Given the description of an element on the screen output the (x, y) to click on. 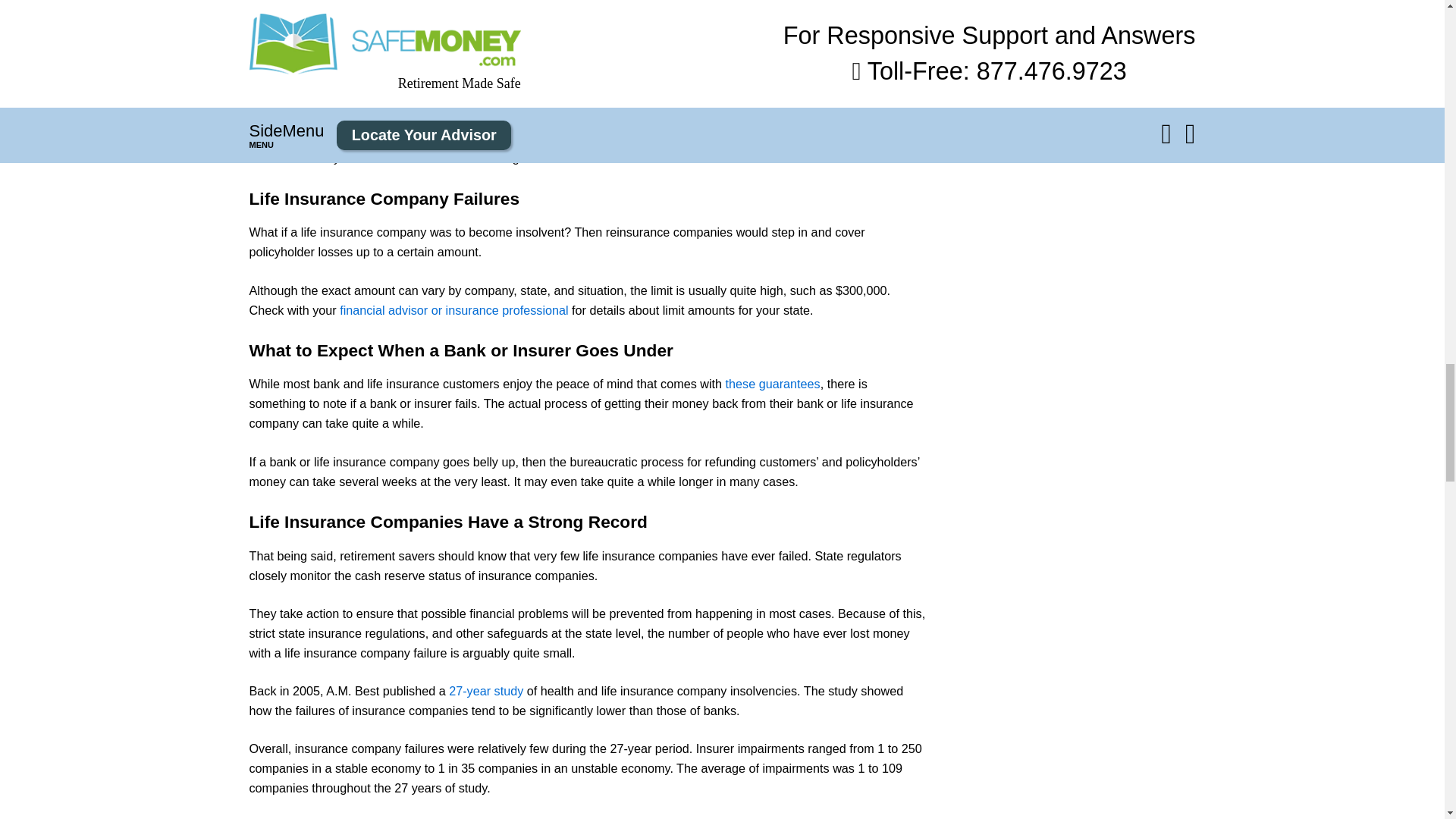
these guarantees (773, 383)
27-year study (485, 690)
financial advisor or insurance professional (453, 309)
